Given the description of an element on the screen output the (x, y) to click on. 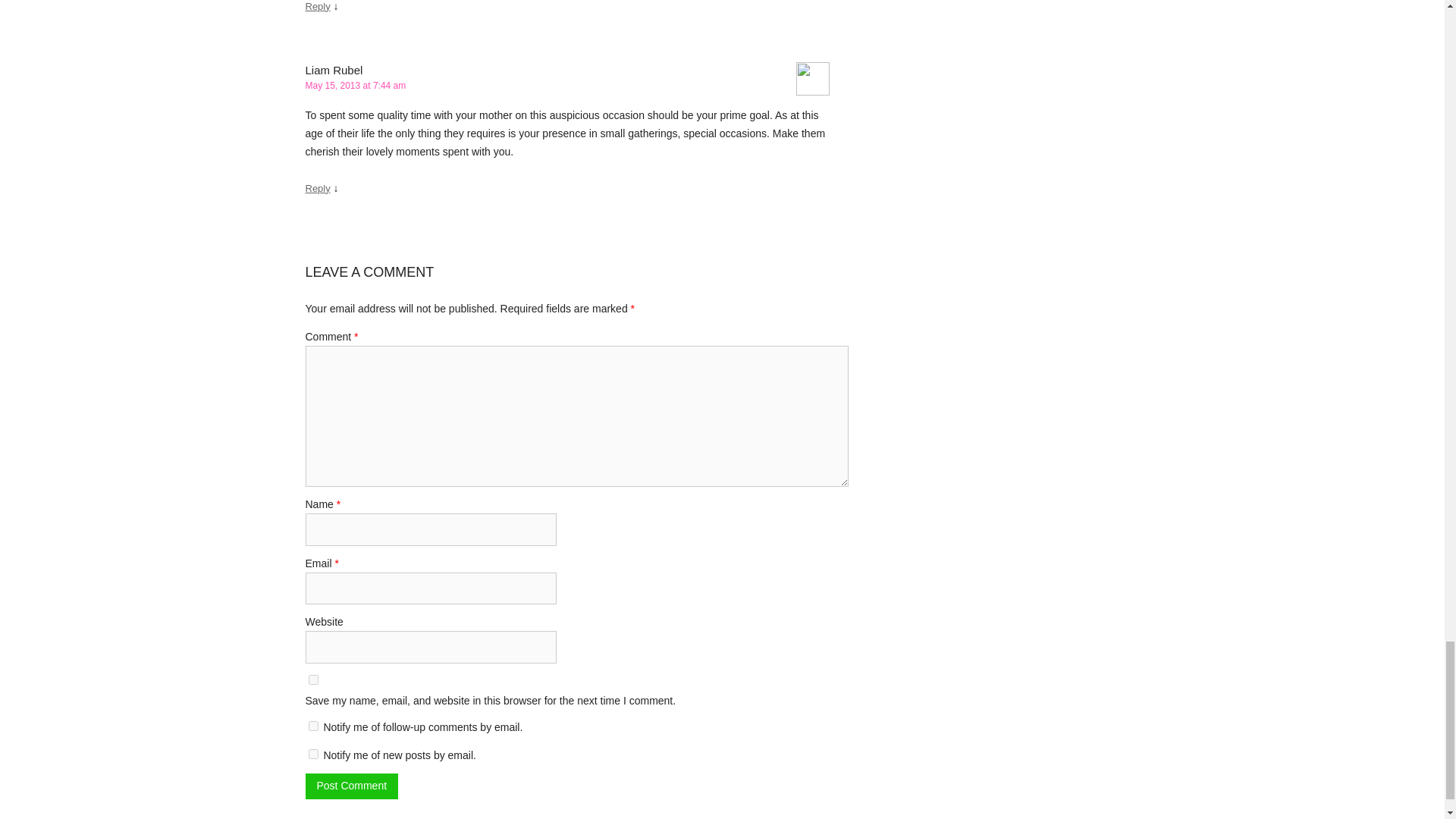
Post Comment (350, 786)
yes (312, 679)
subscribe (312, 726)
subscribe (312, 754)
